Given the description of an element on the screen output the (x, y) to click on. 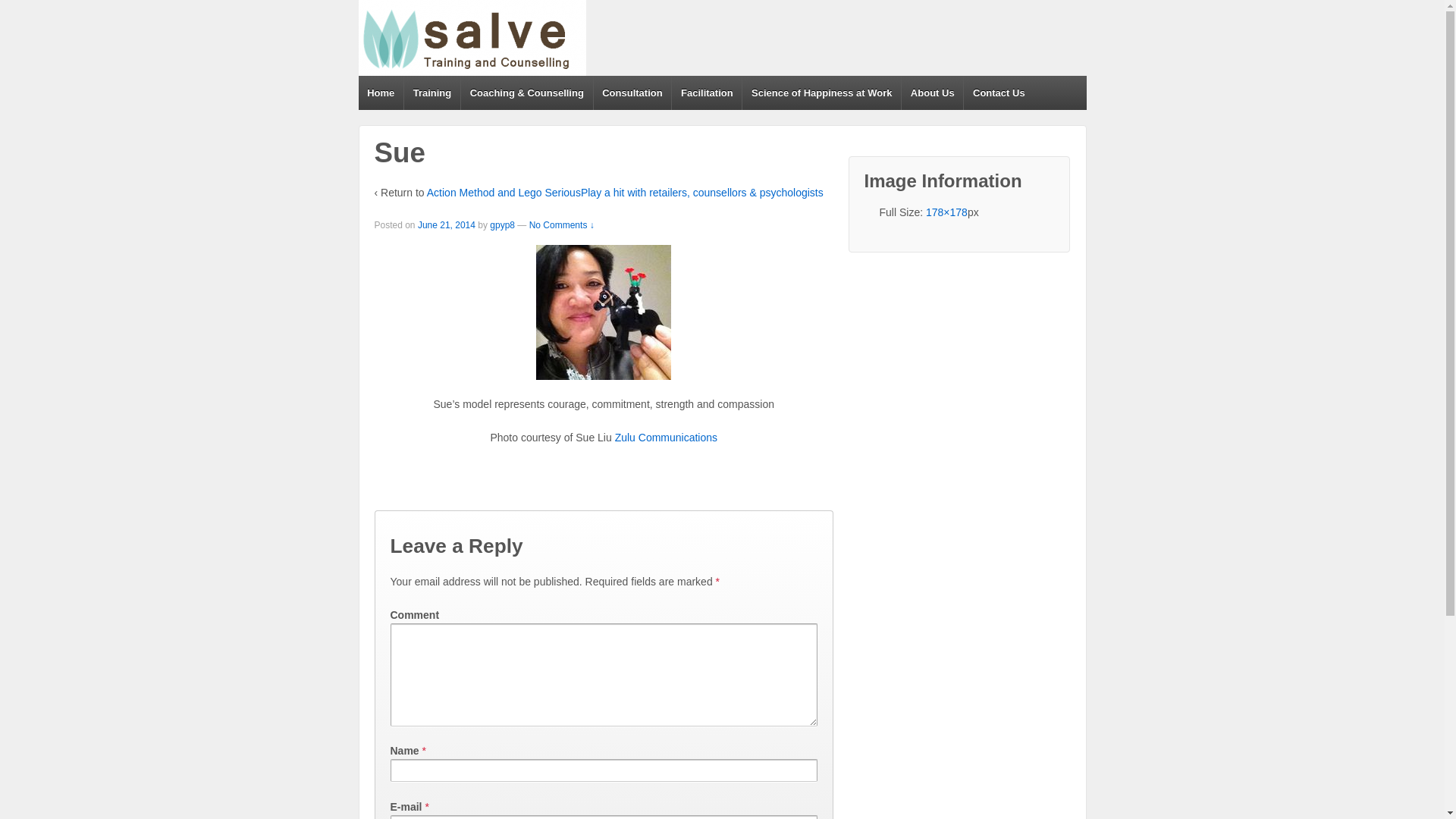
About Us Element type: text (931, 92)
Science of Happiness at Work Element type: text (820, 92)
Coaching & Counselling Element type: text (526, 92)
Home Element type: text (380, 92)
Training Element type: text (431, 92)
June 21, 2014 Element type: text (446, 224)
Zulu Communications Element type: text (666, 437)
Consultation Element type: text (632, 92)
gpyp8 Element type: text (501, 224)
Contact Us Element type: text (998, 92)
Facilitation Element type: text (706, 92)
